Given the description of an element on the screen output the (x, y) to click on. 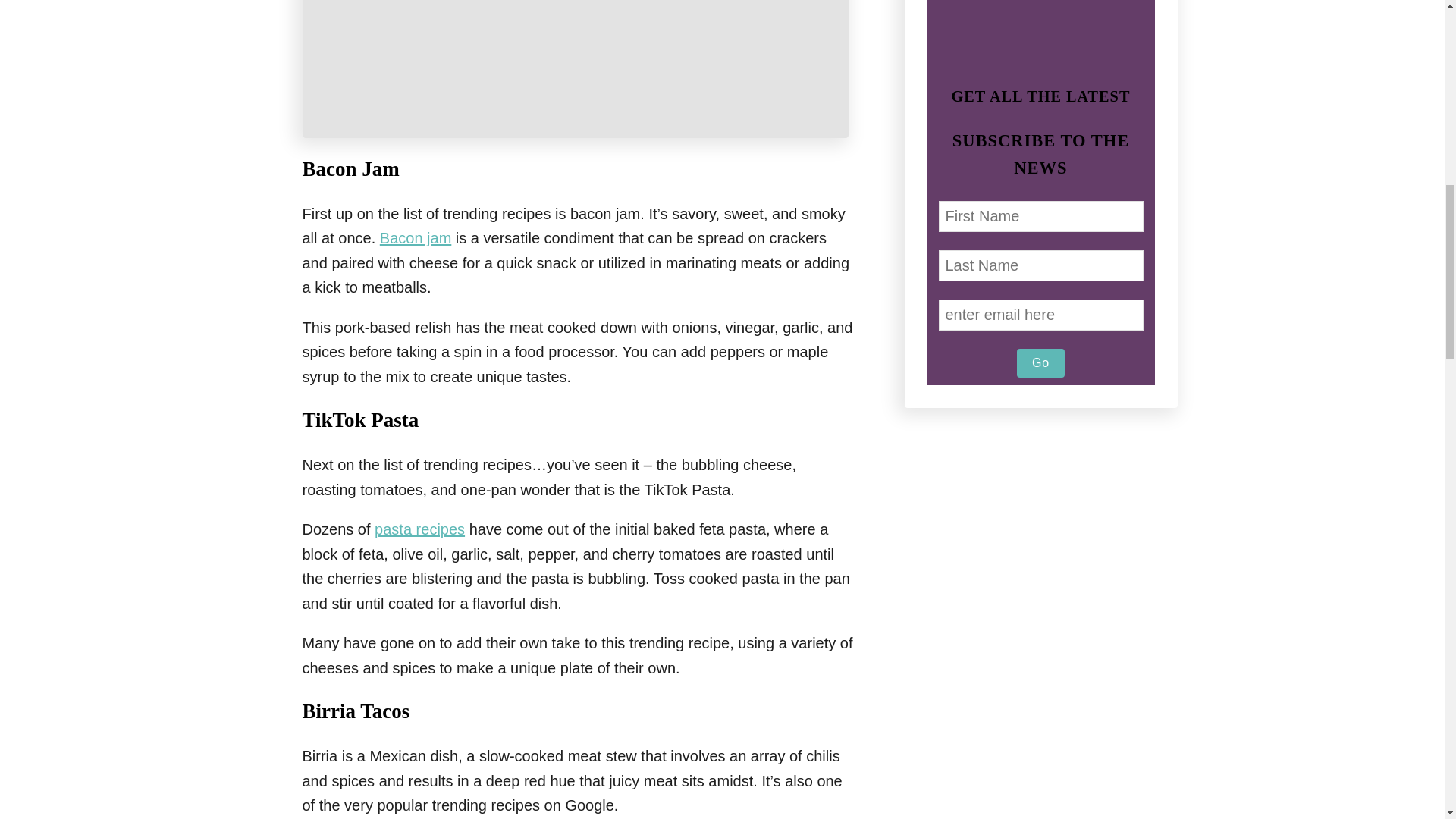
Go (1040, 362)
